Given the description of an element on the screen output the (x, y) to click on. 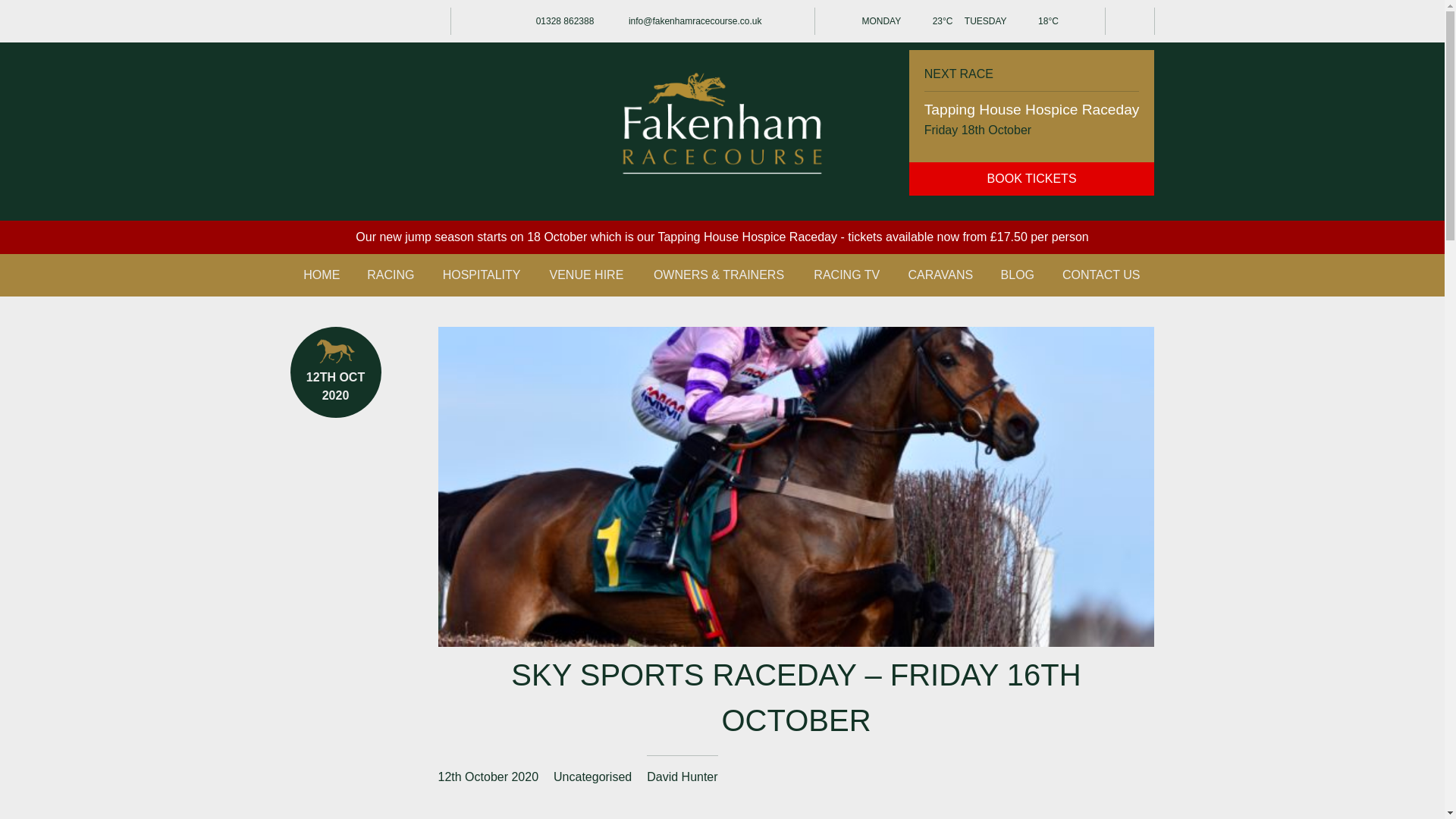
Facebook (332, 21)
HOSPITALITY (481, 274)
View all posts by David Hunter (681, 777)
01328 862388 (548, 21)
VENUE HIRE (587, 274)
RACING (390, 274)
Twitter (302, 21)
RACING TV (846, 274)
Google Plus (390, 21)
HOME (321, 274)
